Given the description of an element on the screen output the (x, y) to click on. 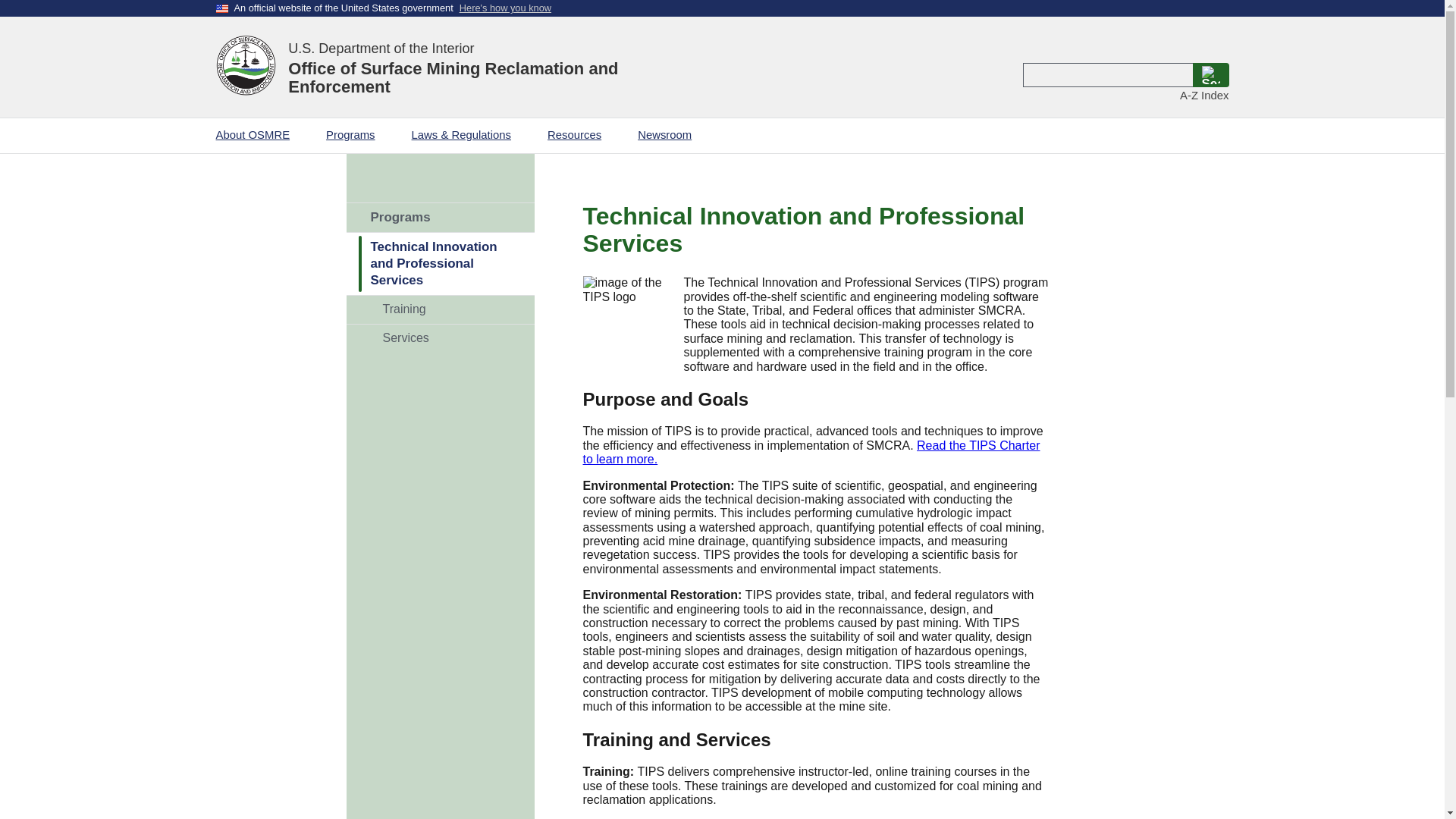
Services (446, 338)
Newsroom (671, 134)
Home (245, 67)
Home (505, 67)
Here's how you know (505, 8)
Technical Innovation and Professional Services (440, 263)
Definitions for vocabulary found on OSMRE.gov (1203, 95)
Programs (440, 217)
A-Z Index (1203, 95)
TIPS  (440, 263)
